Given the description of an element on the screen output the (x, y) to click on. 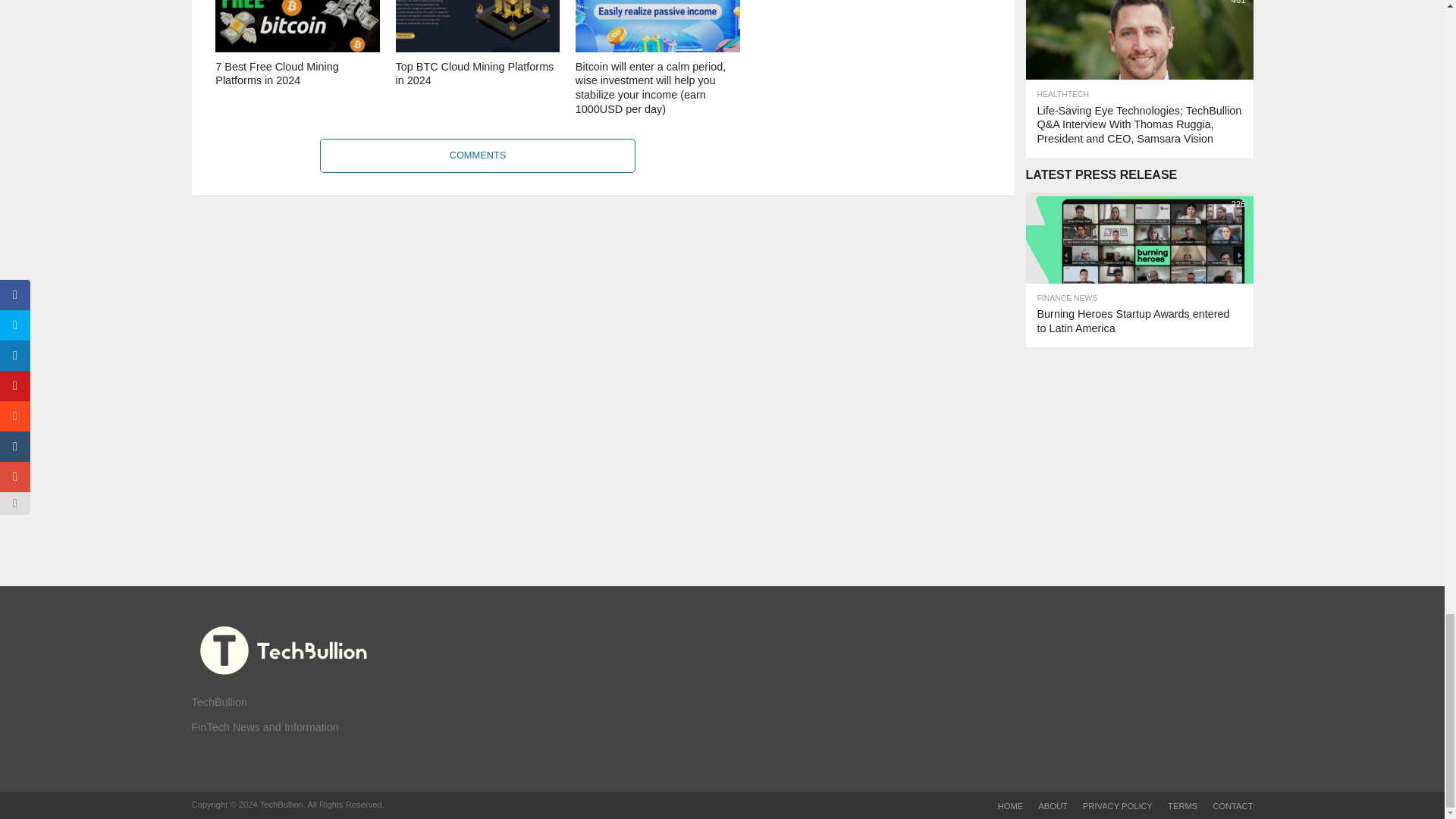
Top BTC Cloud Mining Platforms in 2024 (478, 47)
7 Best Free Cloud Mining Platforms in 2024 (297, 47)
